Given the description of an element on the screen output the (x, y) to click on. 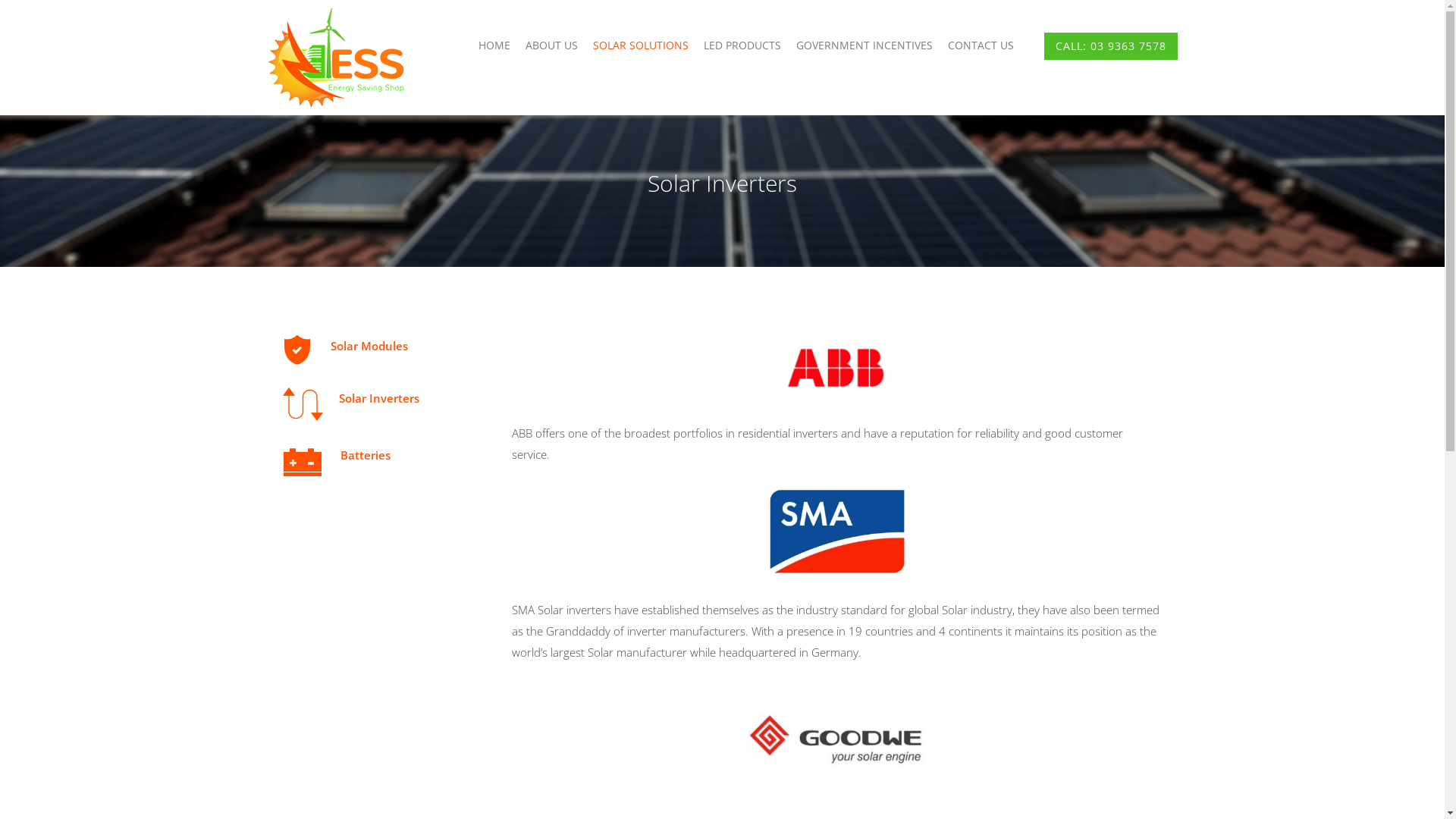
Solar Inverters Element type: text (378, 397)
 Solar Modules Element type: text (367, 345)
CONTACT US Element type: text (980, 44)
LED PRODUCTS Element type: text (742, 44)
HOME Element type: text (493, 44)
CALL: 03 9363 7578 Element type: text (1109, 45)
ABOUT US Element type: text (550, 44)
SOLAR SOLUTIONS Element type: text (640, 44)
 Batteries Element type: text (362, 454)
GOVERNMENT INCENTIVES Element type: text (864, 44)
